Given the description of an element on the screen output the (x, y) to click on. 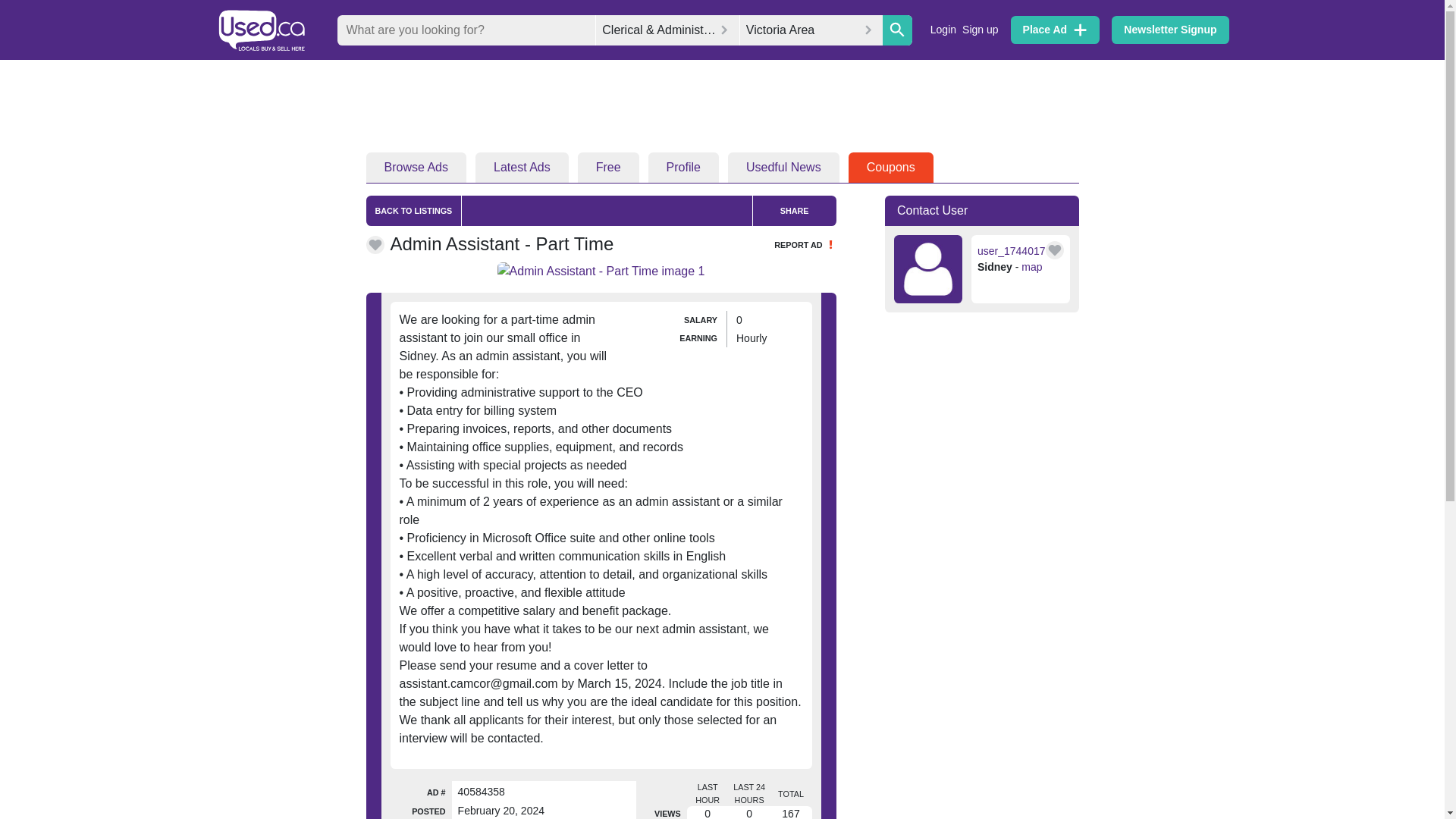
BACK TO LISTINGS (413, 210)
Photo 1 (600, 271)
Usedful News (784, 167)
Place Ad (1055, 29)
Coupons (890, 167)
Free (608, 167)
Victoria Area (811, 30)
map (1032, 266)
Profile (683, 167)
Latest Ads (522, 167)
